Given the description of an element on the screen output the (x, y) to click on. 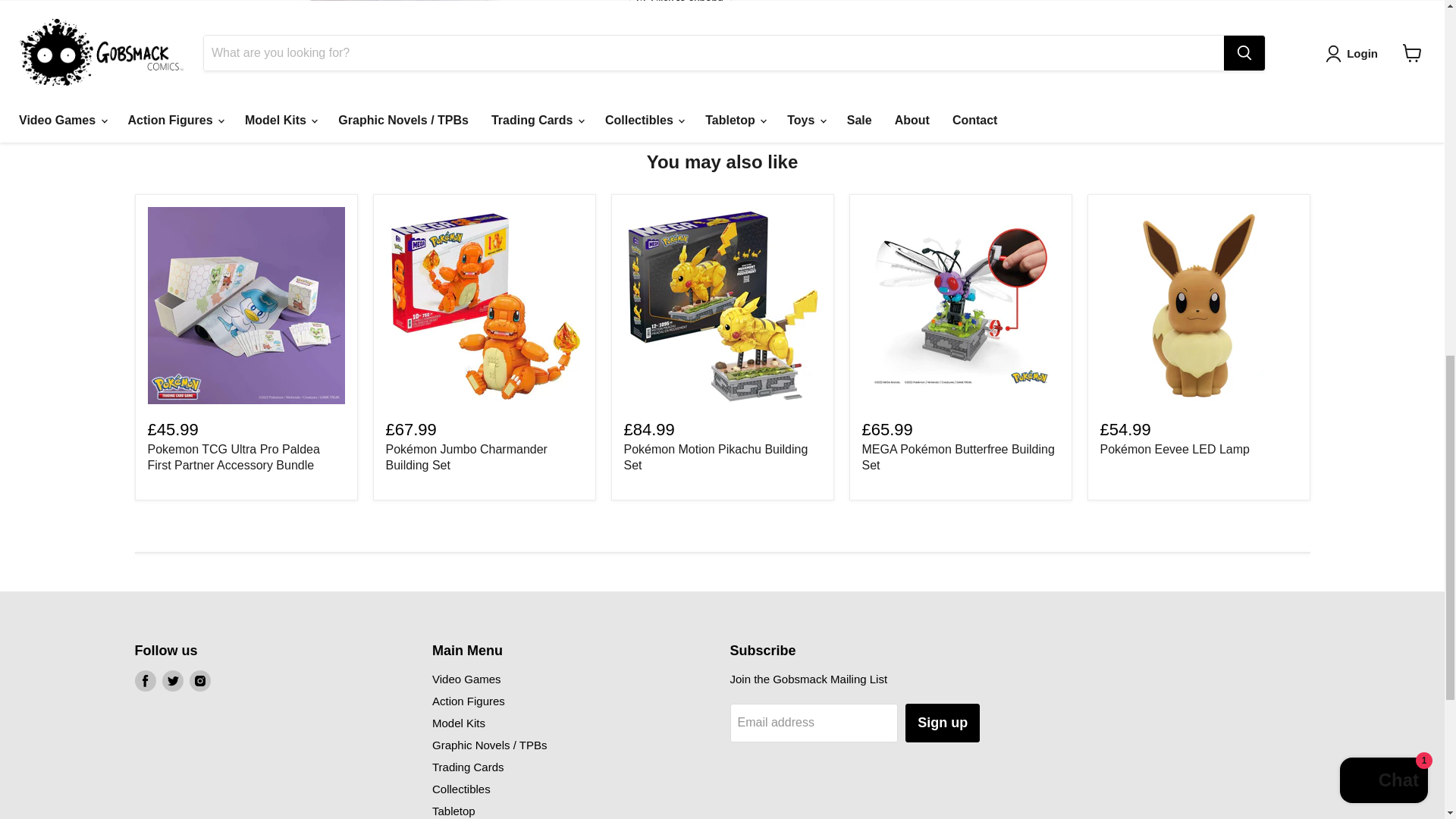
Instagram (200, 680)
Twitter (172, 680)
Facebook (145, 680)
